Given the description of an element on the screen output the (x, y) to click on. 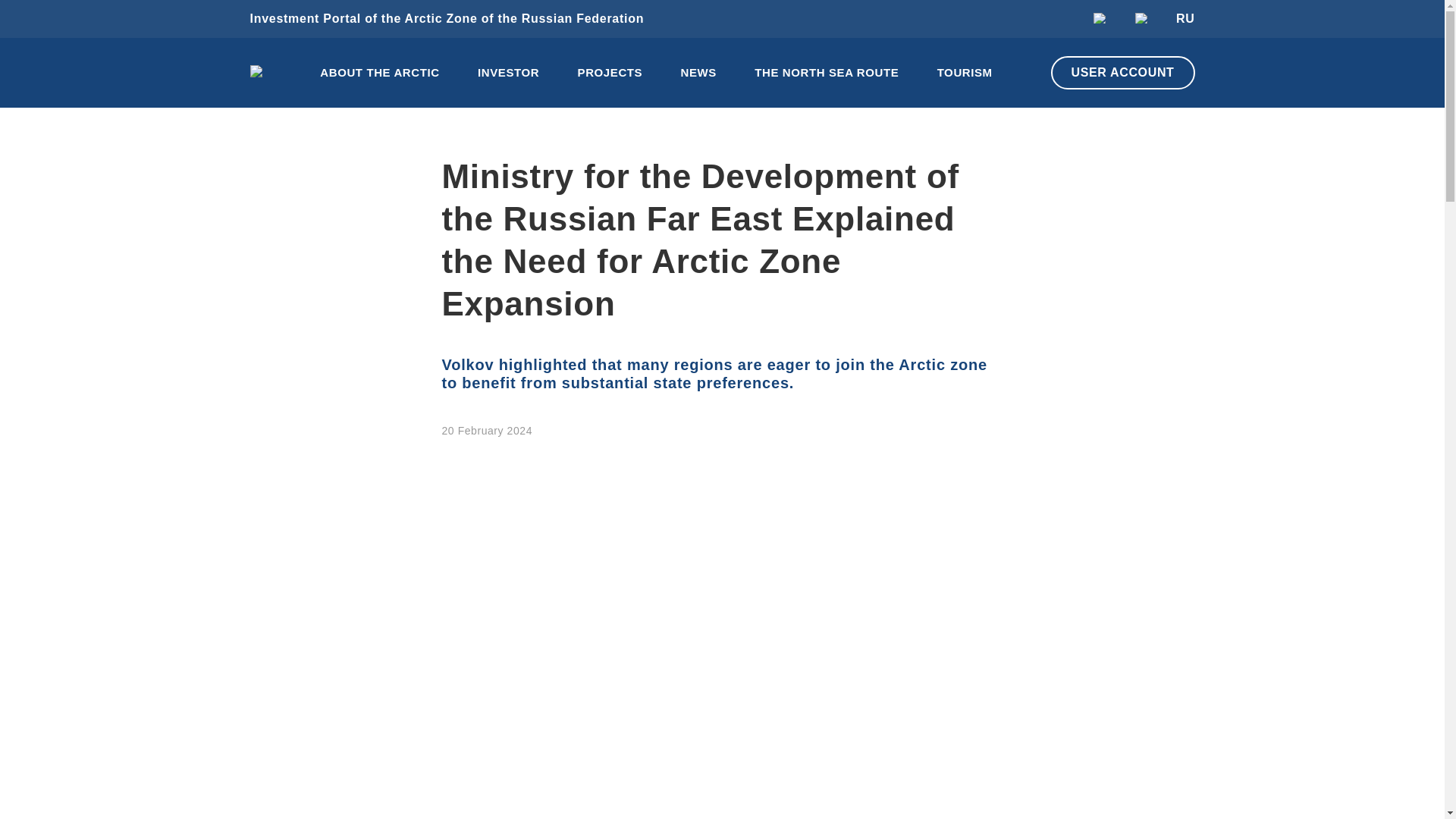
USER ACCOUNT (1123, 72)
INVESTOR (507, 72)
ABOUT THE ARCTIC (379, 72)
NEWS (698, 72)
PROJECTS (610, 72)
TOURISM (964, 72)
RU (1184, 18)
THE NORTH SEA ROUTE (826, 72)
